Given the description of an element on the screen output the (x, y) to click on. 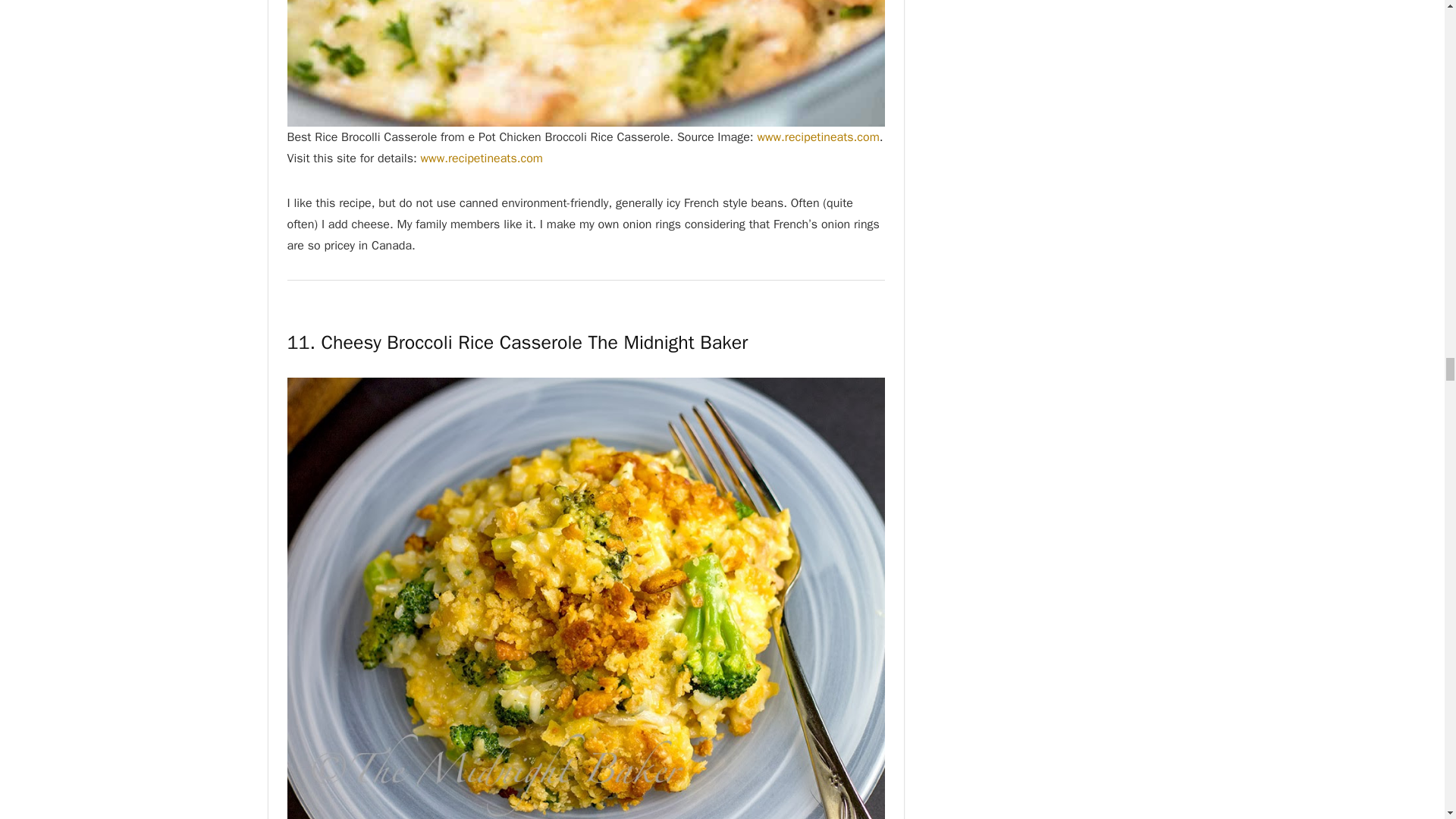
www.recipetineats.com (481, 158)
one pot chicken broccoli rice casserole (584, 63)
www.recipetineats.com (818, 136)
